Given the description of an element on the screen output the (x, y) to click on. 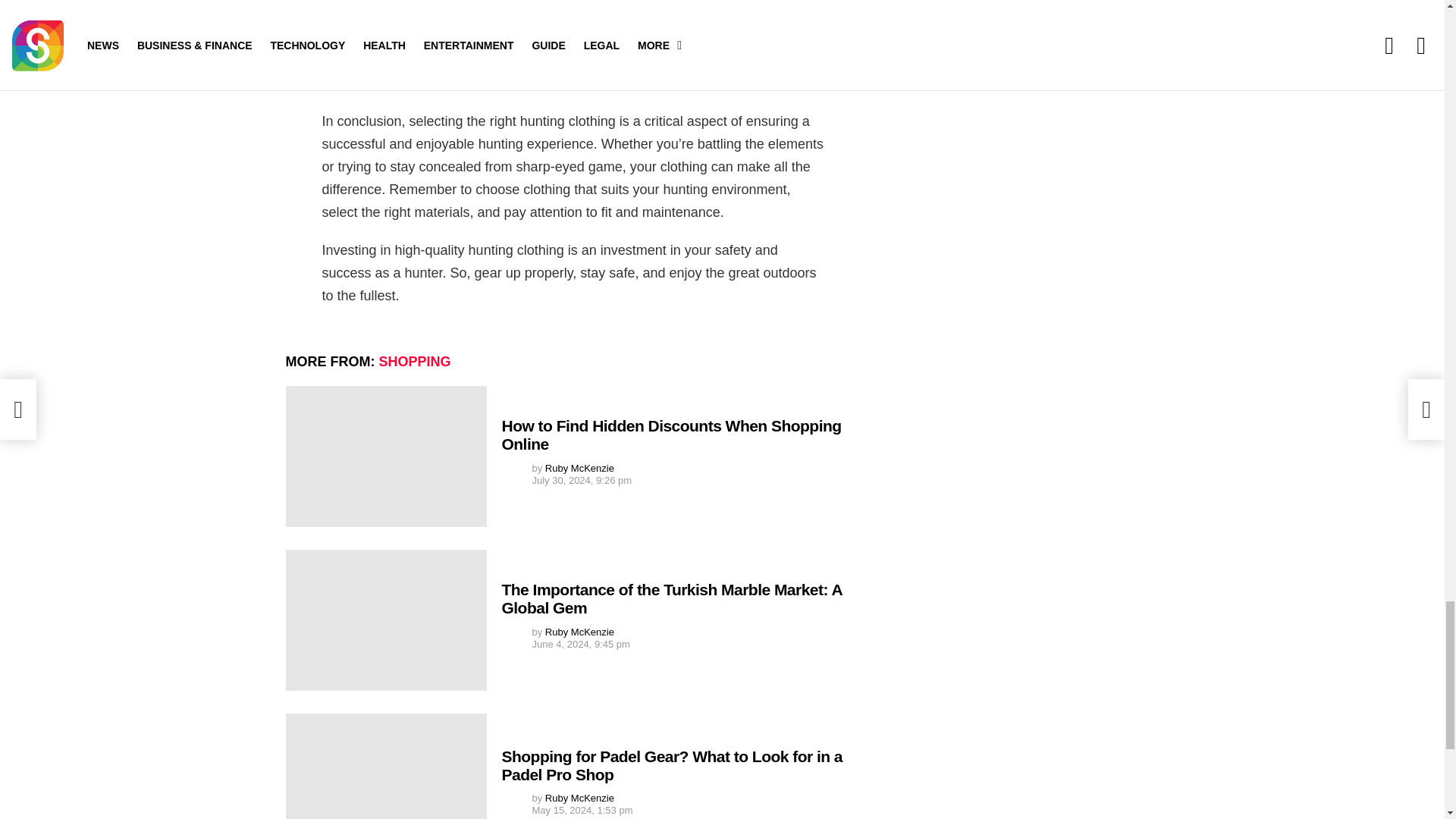
The Importance of the Turkish Marble Market: A Global Gem (385, 620)
Ruby McKenzie (579, 632)
Posts by Ruby McKenzie (579, 797)
Posts by Ruby McKenzie (579, 468)
Ruby McKenzie (579, 797)
SHOPPING (414, 361)
How to Find Hidden Discounts When Shopping Online (385, 456)
Posts by Ruby McKenzie (579, 632)
